Given the description of an element on the screen output the (x, y) to click on. 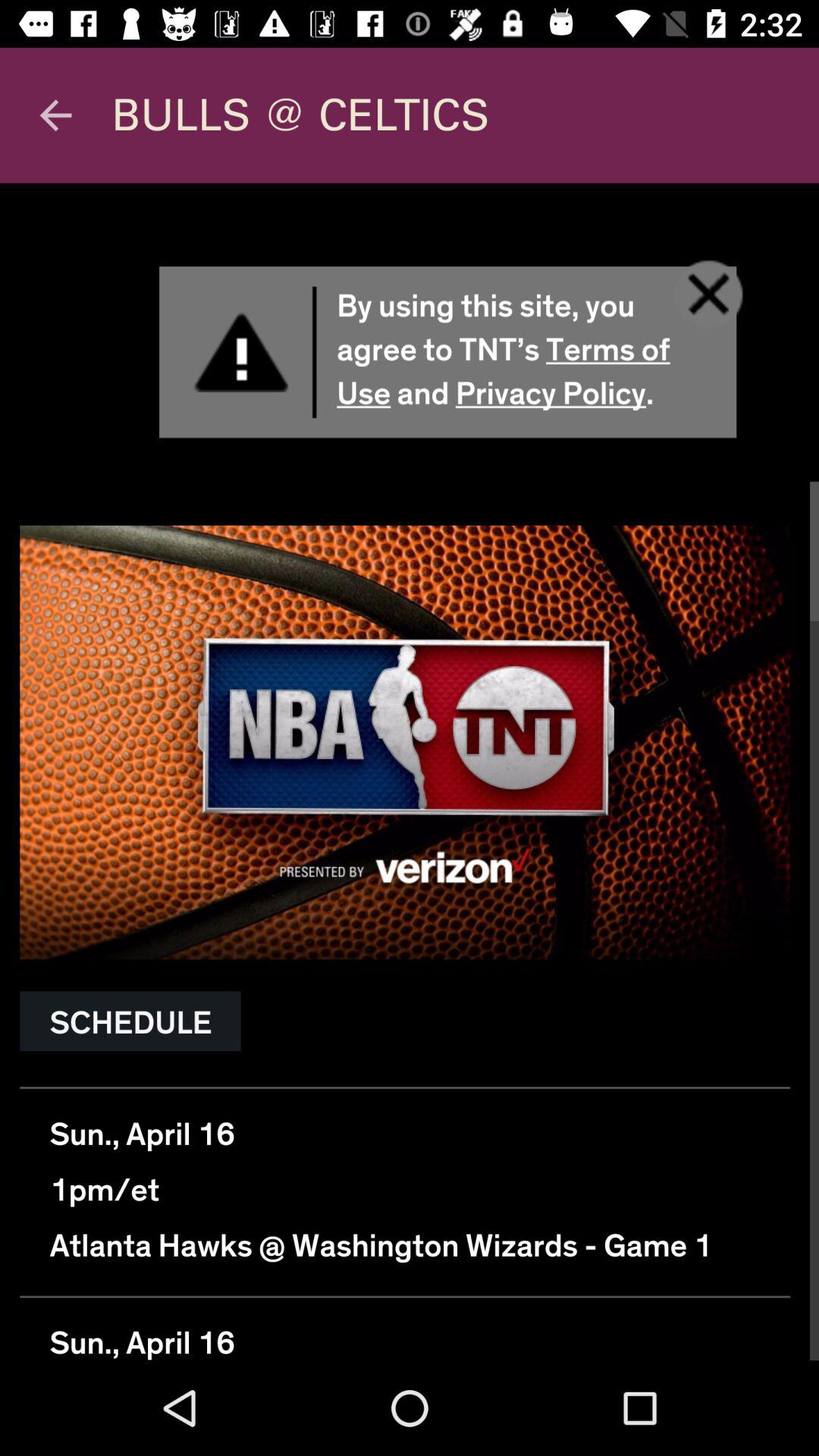
advertisement (409, 771)
